Given the description of an element on the screen output the (x, y) to click on. 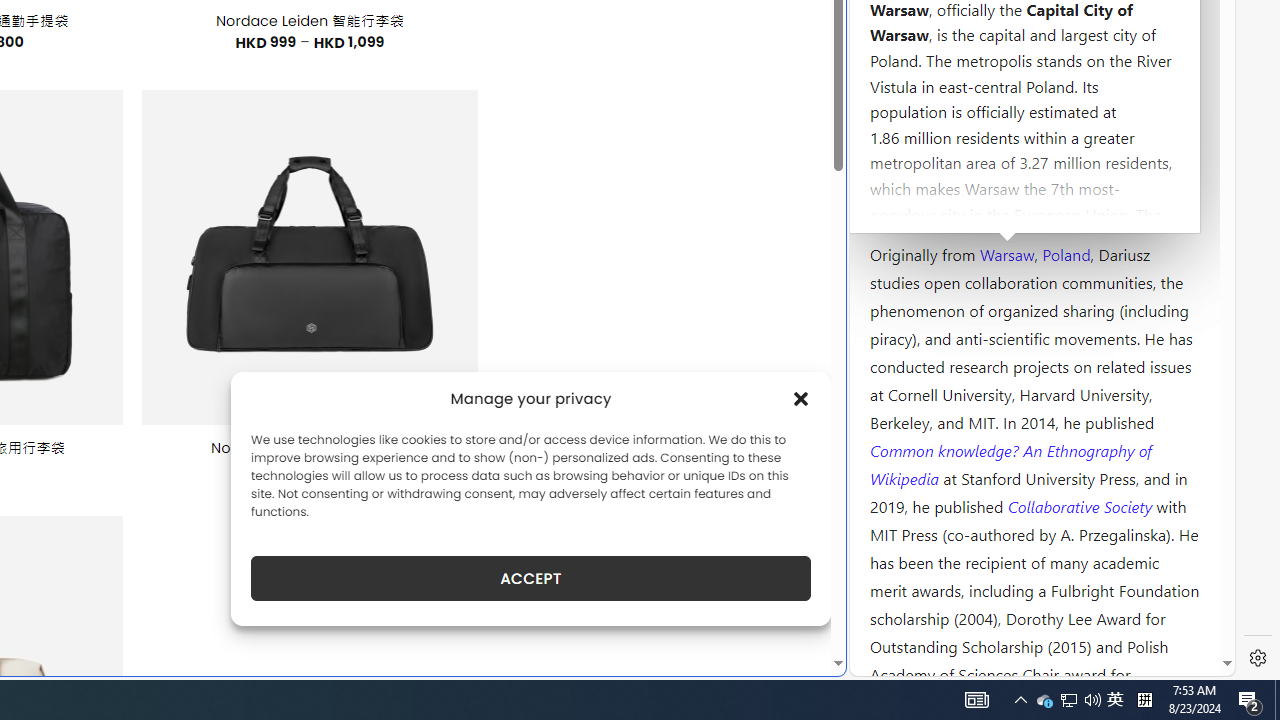
Poland (1065, 253)
Common knowledge? An Ethnography of Wikipedia (1010, 463)
Class: cmplz-close (801, 398)
Collaborative Society  (1082, 505)
Warsaw (1006, 253)
